Given the description of an element on the screen output the (x, y) to click on. 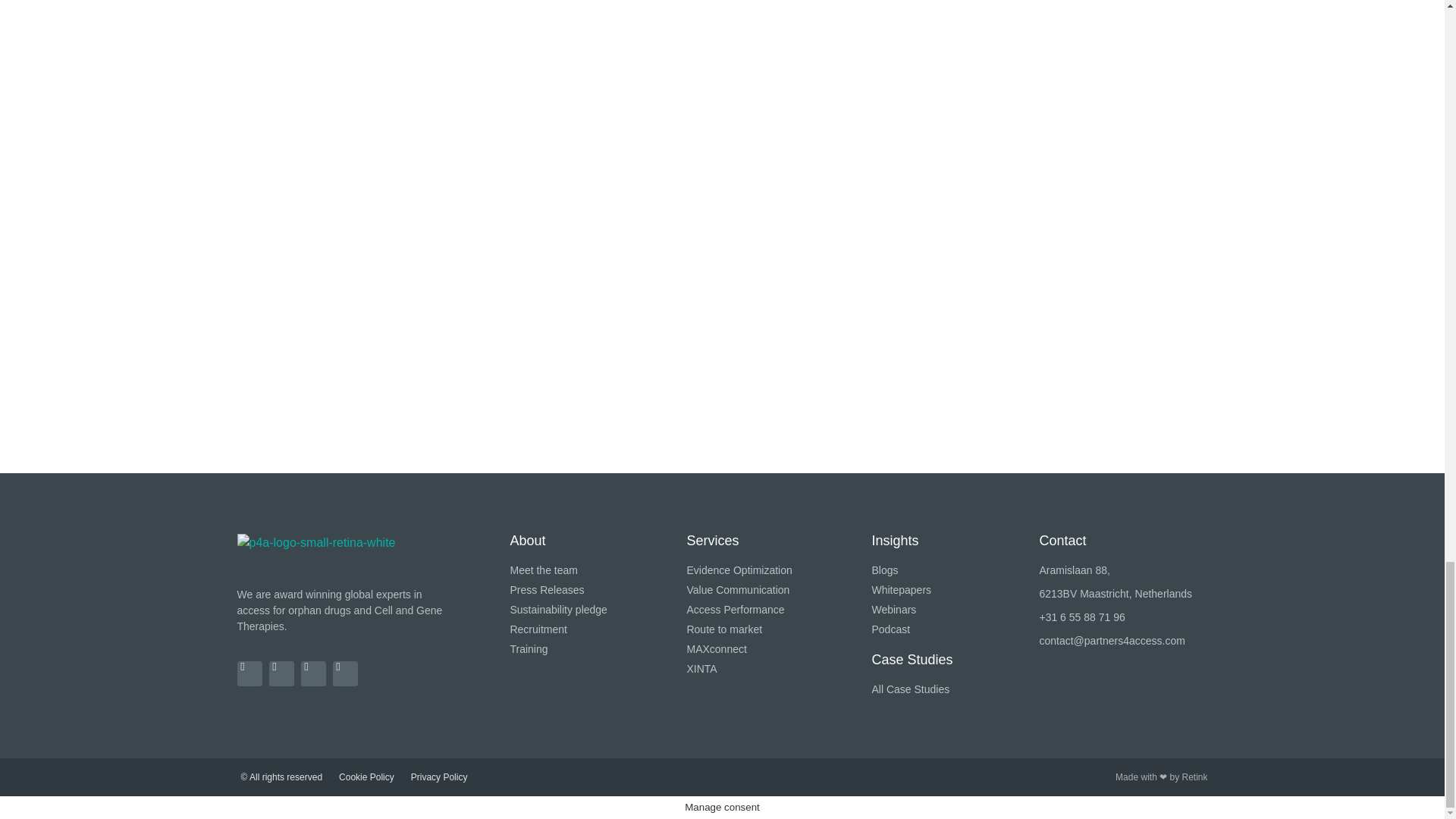
p4a-logo-small-retina-white (314, 552)
